Given the description of an element on the screen output the (x, y) to click on. 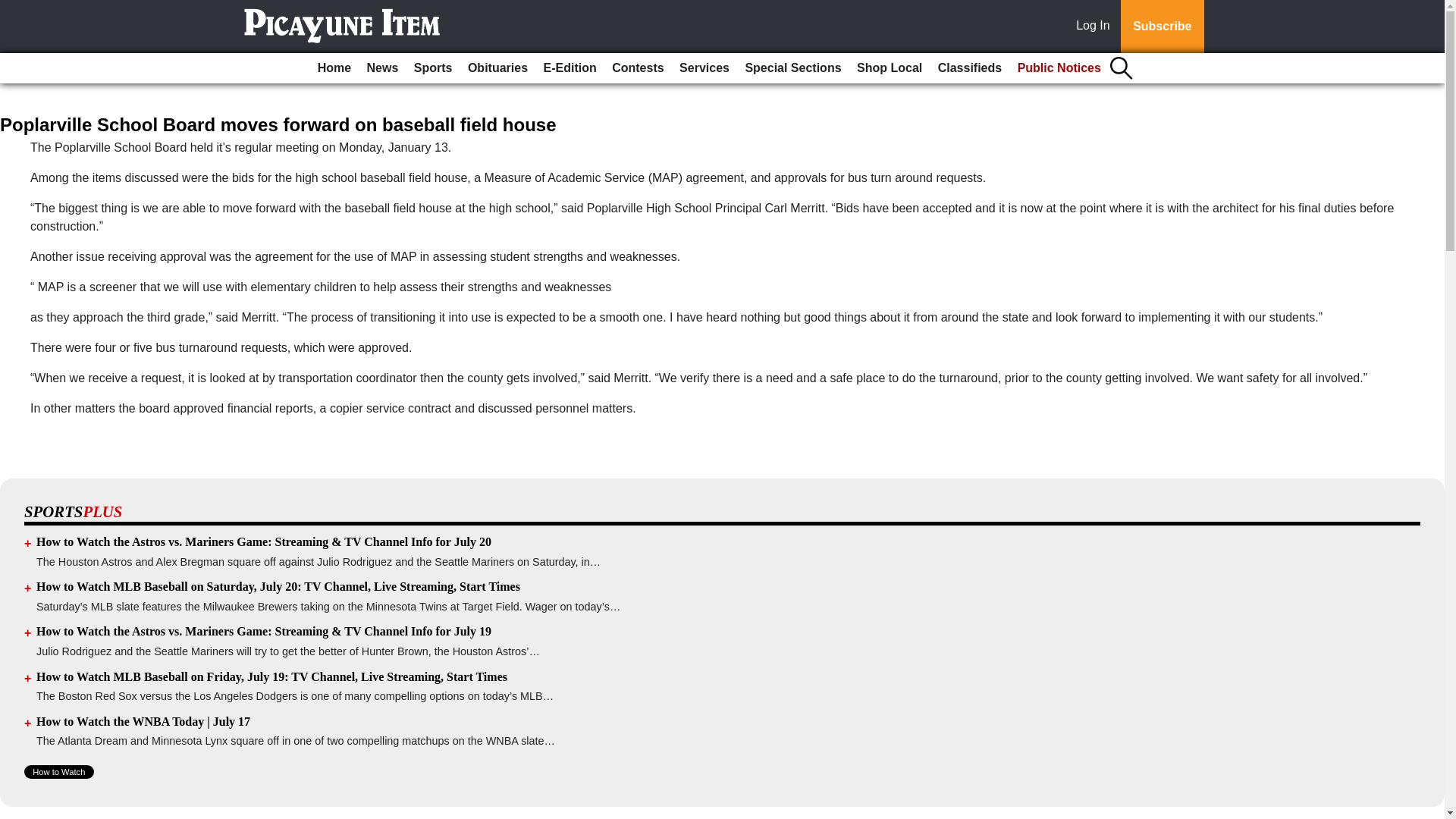
Classifieds (969, 68)
E-Edition (569, 68)
Shop Local (889, 68)
Public Notices (1058, 68)
How to Watch (59, 771)
Home (333, 68)
Subscribe (1162, 26)
Special Sections (792, 68)
Obituaries (497, 68)
Log In (1095, 26)
Sports (432, 68)
Contests (637, 68)
Services (703, 68)
